Given the description of an element on the screen output the (x, y) to click on. 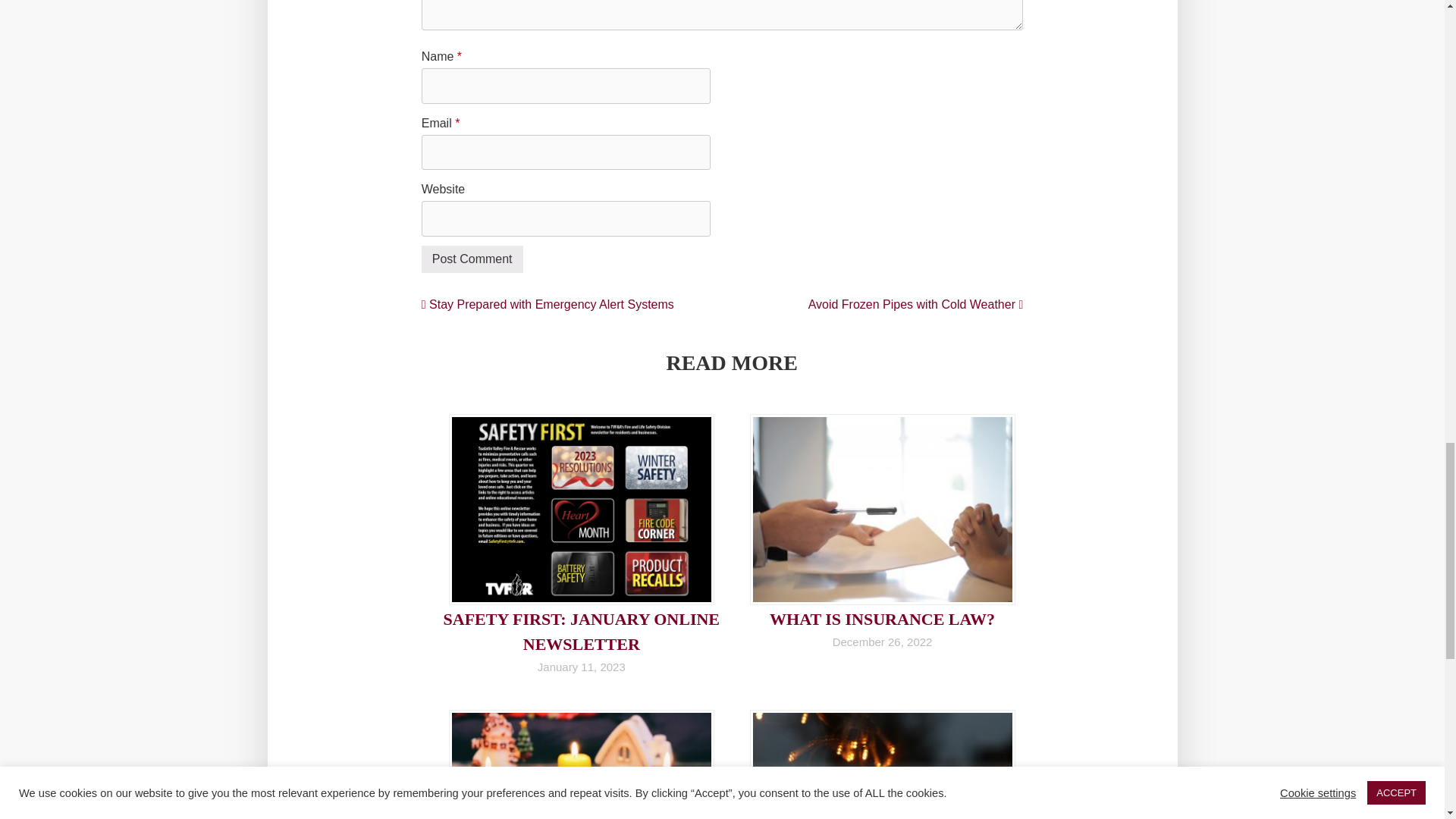
SAFETY FIRST: JANUARY ONLINE NEWSLETTER (582, 631)
WHAT IS INSURANCE LAW? (882, 618)
Post Comment (472, 258)
Stay Prepared with Emergency Alert Systems (548, 304)
Avoid Frozen Pipes with Cold Weather (915, 304)
Post Comment (472, 258)
